Given the description of an element on the screen output the (x, y) to click on. 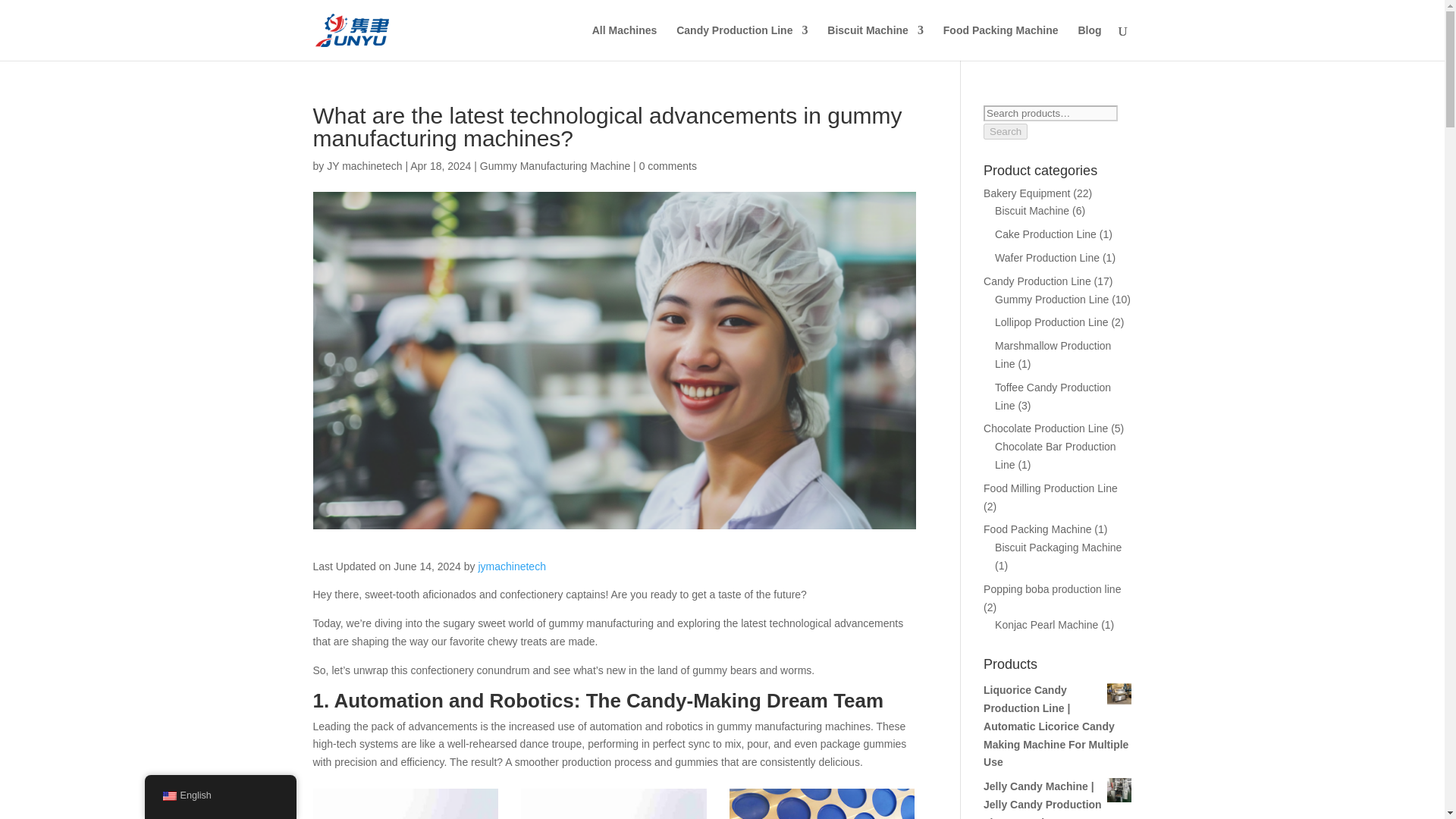
Food Packing Machine (1000, 42)
Candy Production Line (742, 42)
JY machinetech (363, 165)
All Machines (405, 803)
0 comments (625, 42)
Posts by JY machinetech (668, 165)
jymachinetech (363, 165)
Gummy Manufacturing Machine (511, 566)
Biscuit Machine (555, 165)
English (875, 42)
Blog (168, 795)
